Given the description of an element on the screen output the (x, y) to click on. 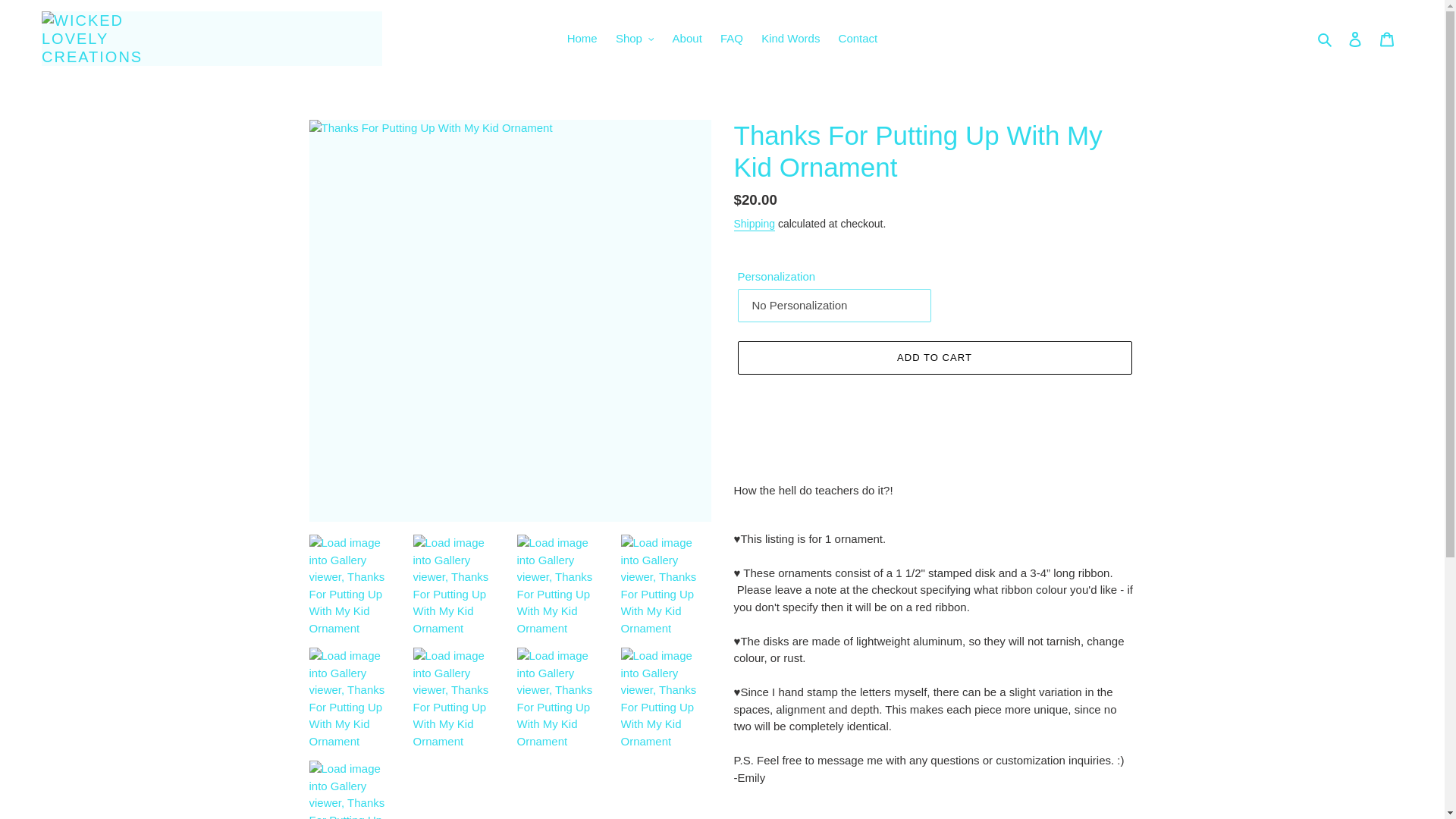
Search (1326, 38)
Shop (635, 38)
Log in (1355, 38)
About (687, 38)
Home (582, 38)
Contact (858, 38)
Cart (1387, 38)
Kind Words (790, 38)
FAQ (732, 38)
